Given the description of an element on the screen output the (x, y) to click on. 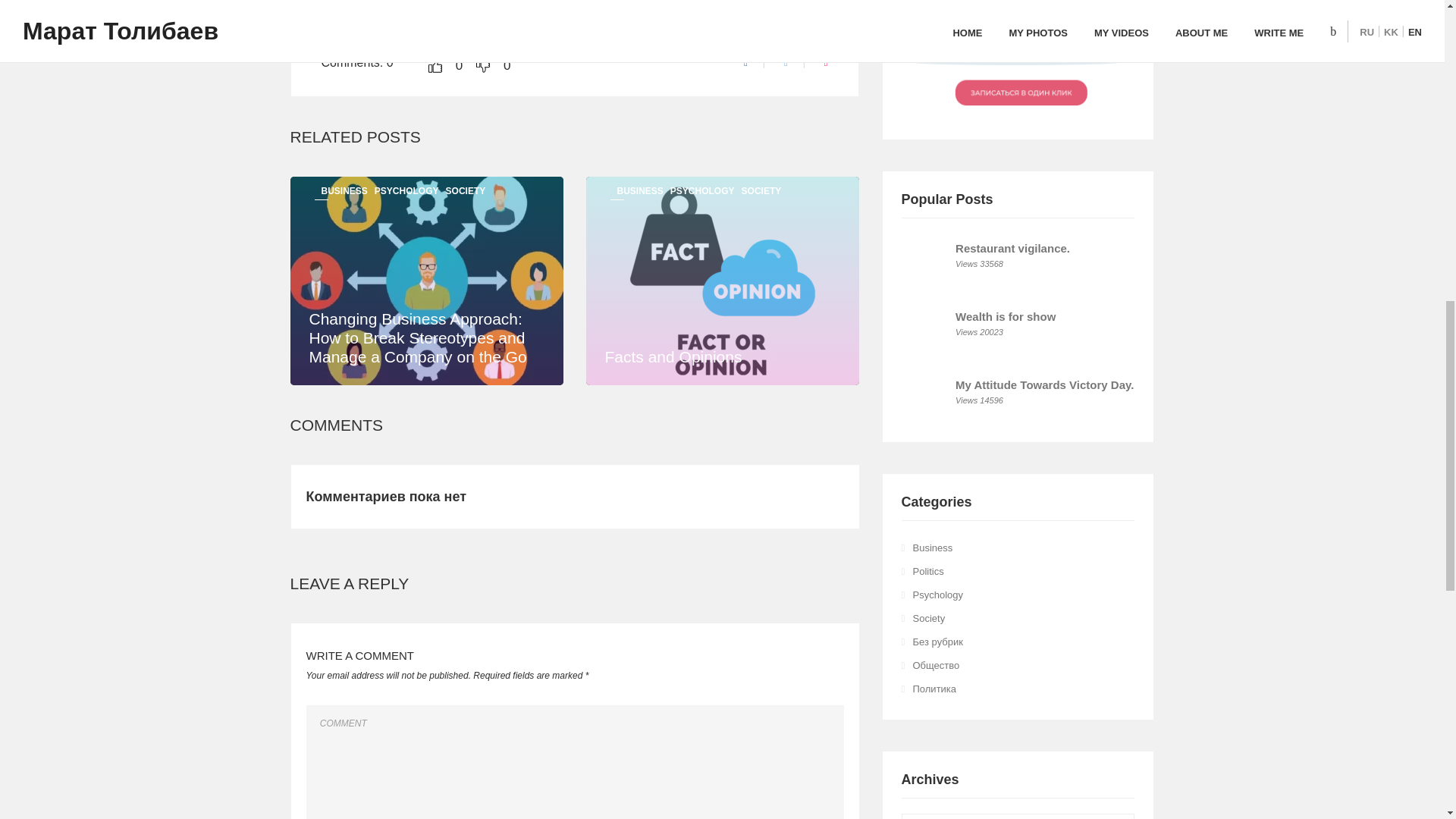
Restaurant vigilance. (1012, 247)
Wealth is for show (1005, 316)
BUSINESS (344, 190)
Facts and Opinions (673, 356)
My Attitude Towards Victory Day. (1044, 384)
SOCIETY (465, 190)
SOCIETY (761, 190)
Business (932, 547)
PSYCHOLOGY (702, 190)
